Given the description of an element on the screen output the (x, y) to click on. 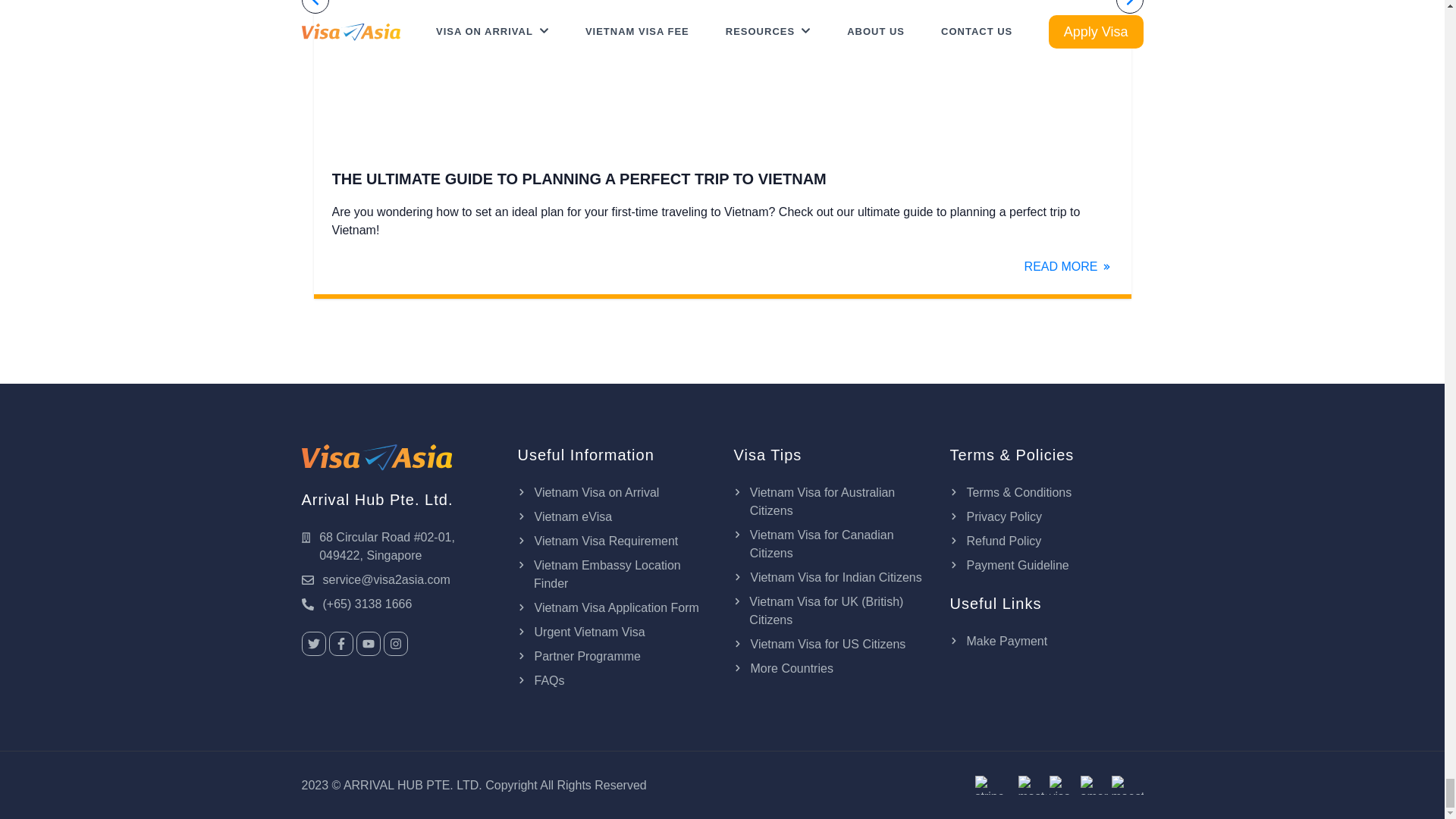
READ MORE (1069, 266)
THE ULTIMATE GUIDE TO PLANNING A PERFECT TRIP TO VIETNAM  (722, 179)
